Given the description of an element on the screen output the (x, y) to click on. 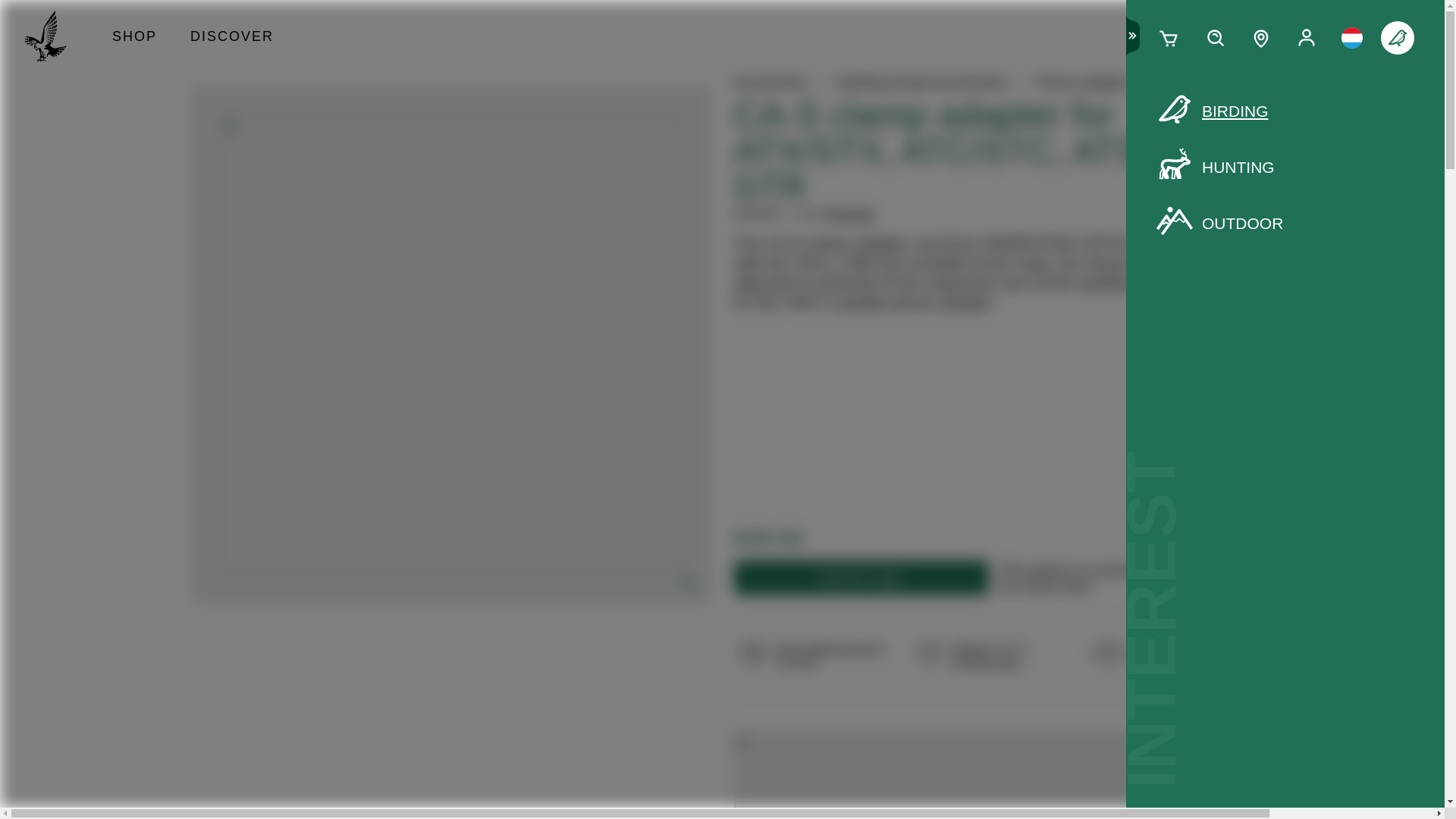
COUNTRY (1351, 37)
DEALER LOCATOR (1261, 37)
SHOP (134, 37)
Swarovski Optik (51, 38)
SEARCH (1215, 37)
CART (1169, 37)
Shop (134, 37)
OUTDOOR (1284, 223)
Discover (231, 37)
ACCOUNT (1306, 37)
BIRDING (1284, 110)
DISCOVER (231, 37)
INTEREST (1397, 37)
HUNTING (1284, 167)
